Given the description of an element on the screen output the (x, y) to click on. 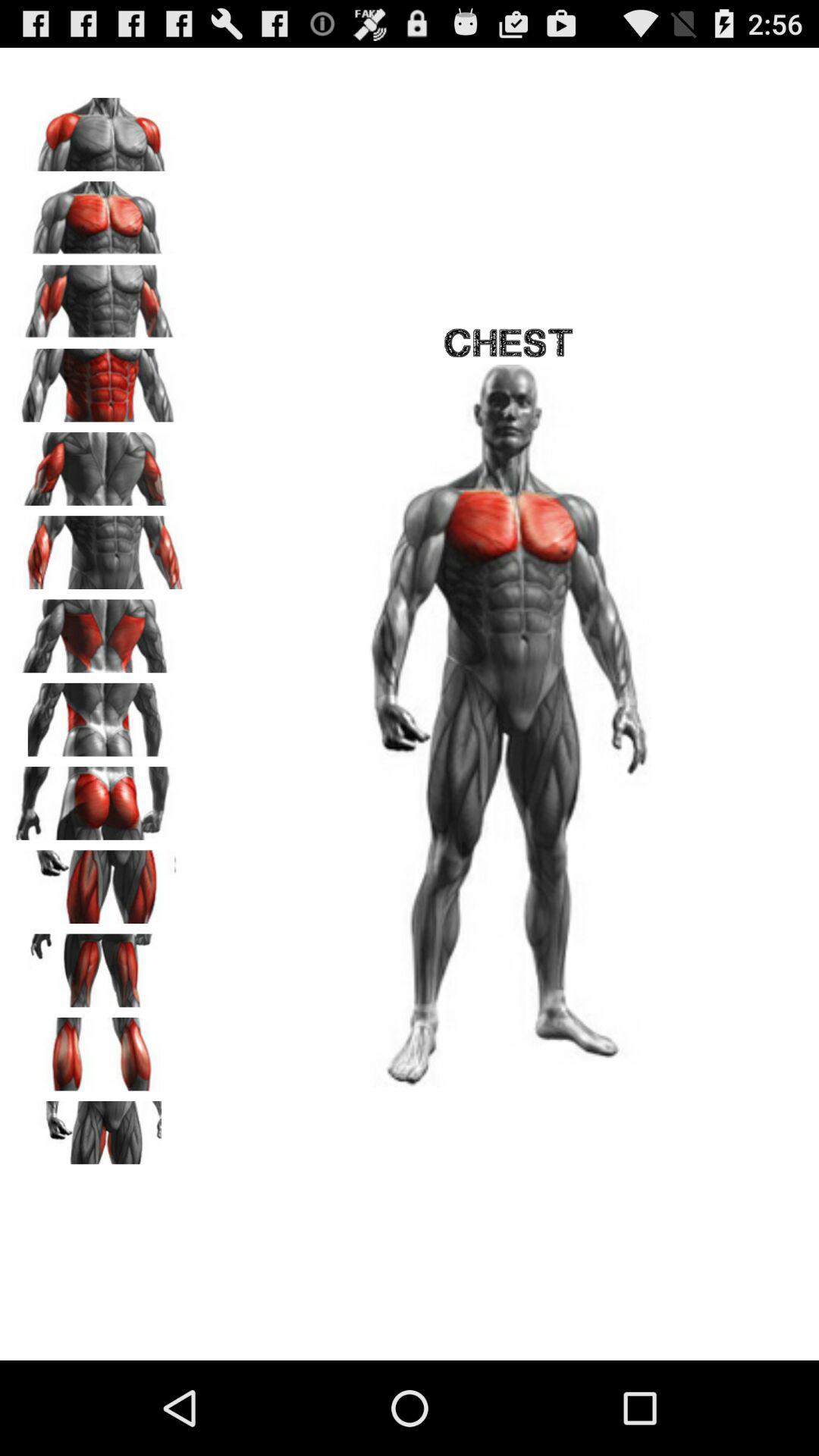
select calves (99, 1048)
